Given the description of an element on the screen output the (x, y) to click on. 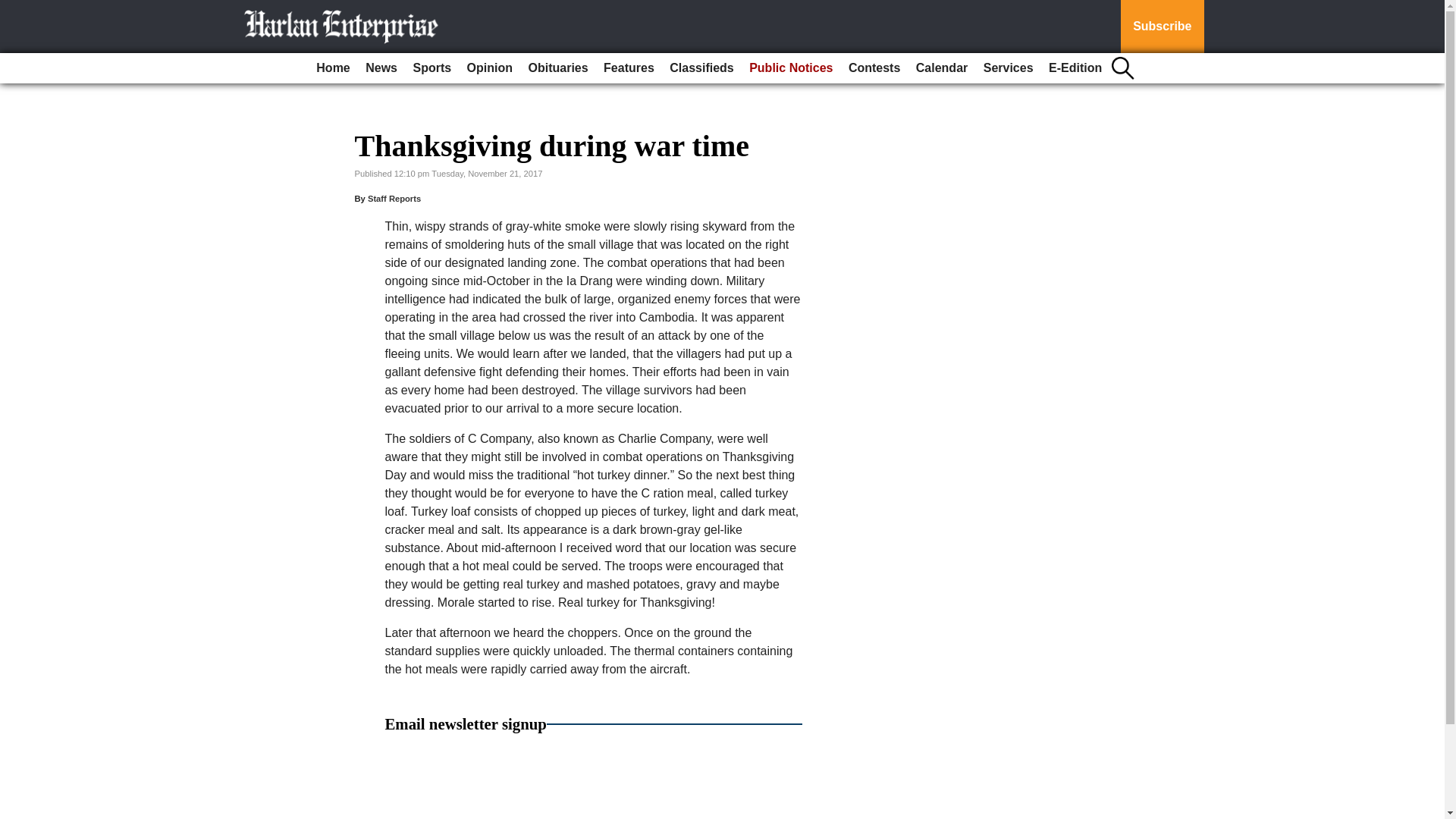
Features (628, 68)
Public Notices (790, 68)
Subscribe (1162, 26)
News (381, 68)
Calendar (942, 68)
Go (13, 9)
Contests (874, 68)
E-Edition (1075, 68)
Classifieds (701, 68)
Services (1007, 68)
